Given the description of an element on the screen output the (x, y) to click on. 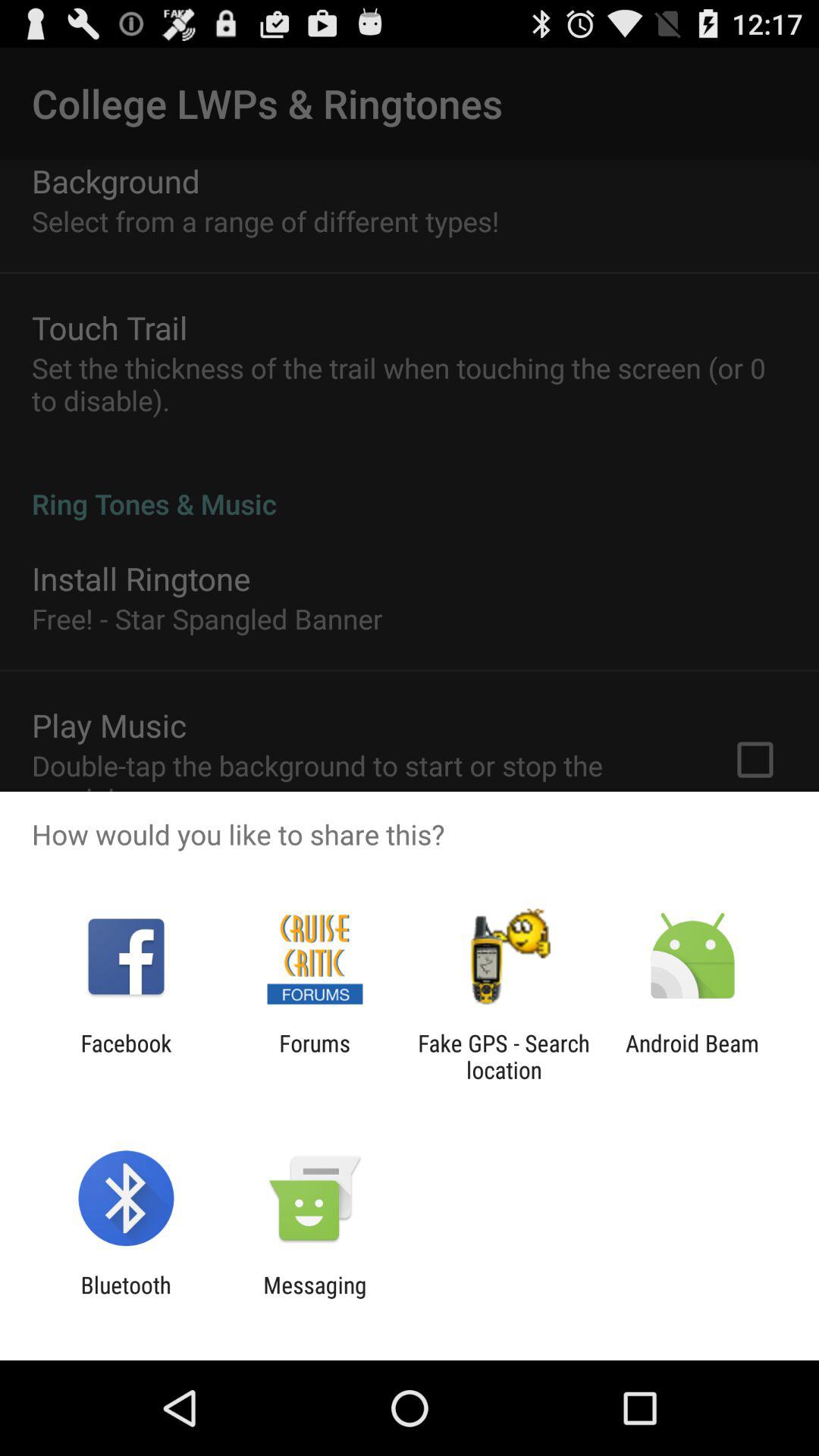
scroll until forums app (314, 1056)
